Given the description of an element on the screen output the (x, y) to click on. 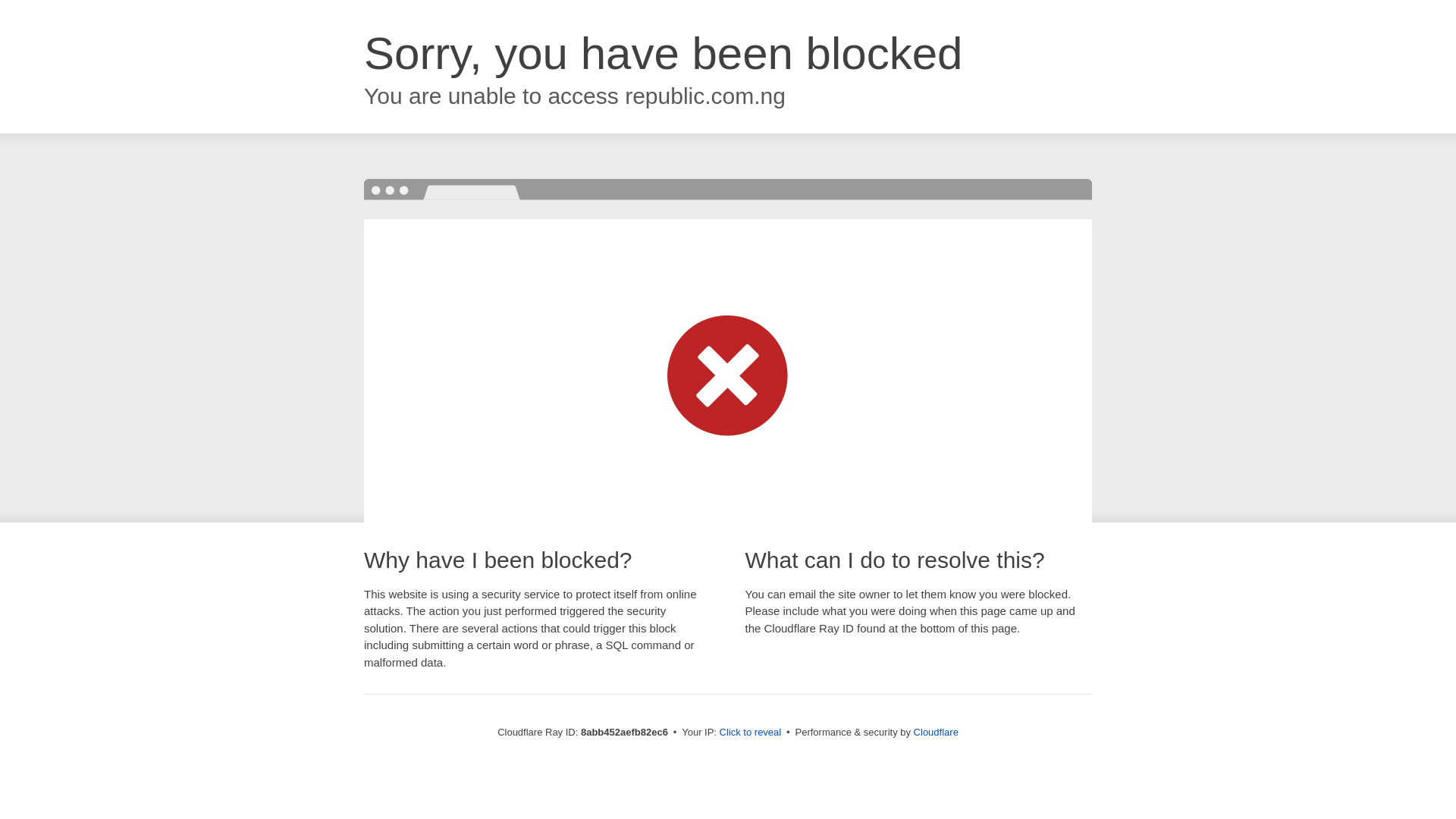
Click to reveal (750, 732)
Cloudflare (936, 731)
